Given the description of an element on the screen output the (x, y) to click on. 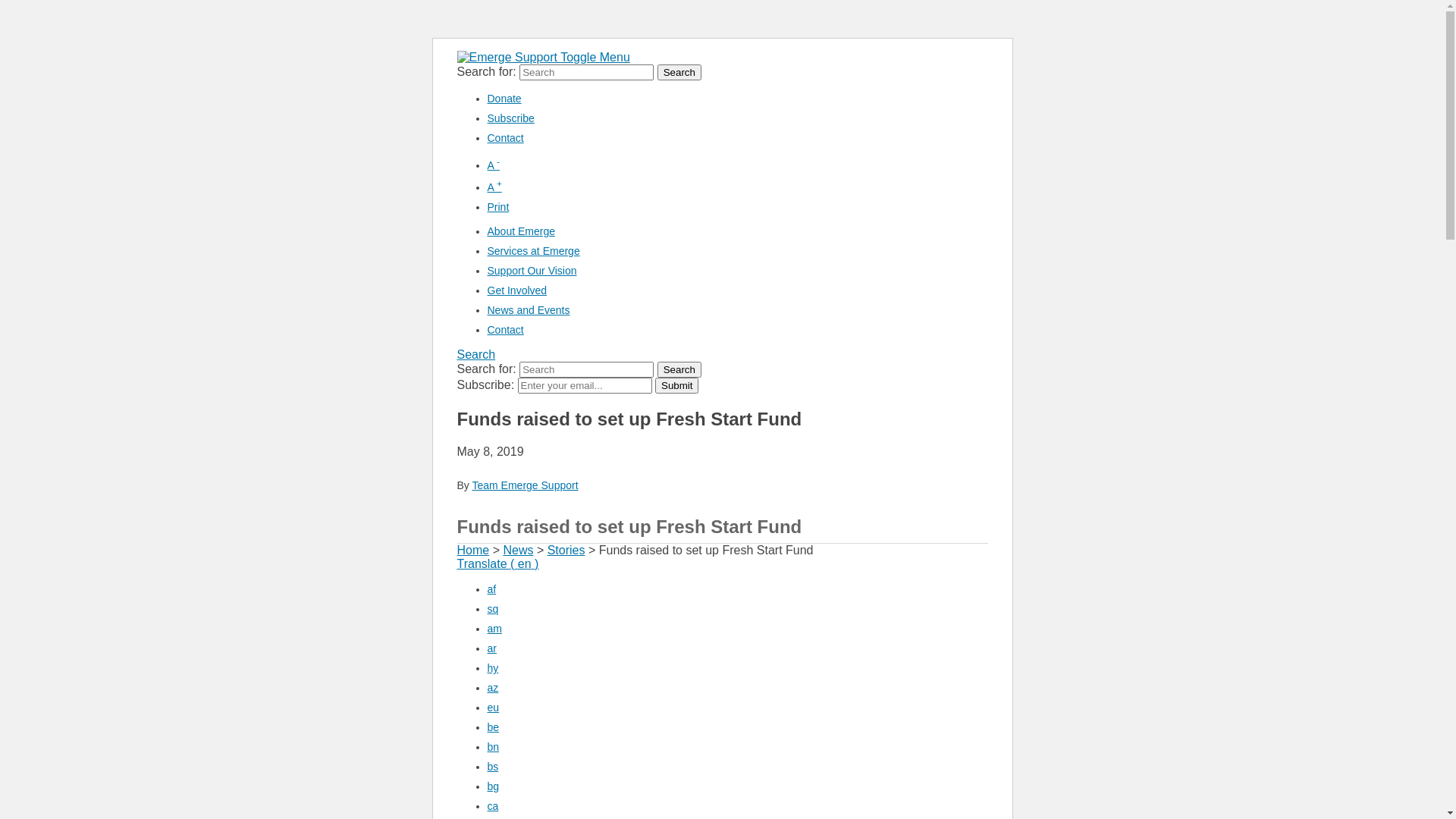
Donate Element type: text (503, 98)
News Element type: text (517, 549)
be Element type: text (492, 727)
bs Element type: text (492, 766)
Support Our Vision Element type: text (531, 270)
Search Element type: text (679, 72)
eu Element type: text (492, 707)
Home Element type: text (472, 549)
News and Events Element type: text (527, 310)
ar Element type: text (490, 648)
Contact Element type: text (504, 137)
Search for: Element type: hover (586, 369)
am Element type: text (493, 628)
A + Element type: text (493, 187)
Translate ( en ) Element type: text (497, 563)
Team Emerge Support Element type: text (524, 485)
Services at Emerge Element type: text (532, 250)
Print Element type: text (497, 206)
Subscribe: Element type: hover (584, 385)
A - Element type: text (492, 165)
af Element type: text (490, 589)
bn Element type: text (492, 746)
ca Element type: text (492, 806)
Subscribe Element type: text (509, 118)
Search Element type: text (475, 354)
Search Element type: text (679, 369)
Submit Element type: text (676, 385)
Get Involved Element type: text (516, 290)
az Element type: text (492, 687)
Search for: Element type: hover (586, 72)
hy Element type: text (492, 668)
Toggle Menu Element type: text (595, 56)
Contact Element type: text (504, 329)
sq Element type: text (492, 608)
About Emerge Element type: text (520, 231)
Stories Element type: text (566, 549)
bg Element type: text (492, 786)
